Given the description of an element on the screen output the (x, y) to click on. 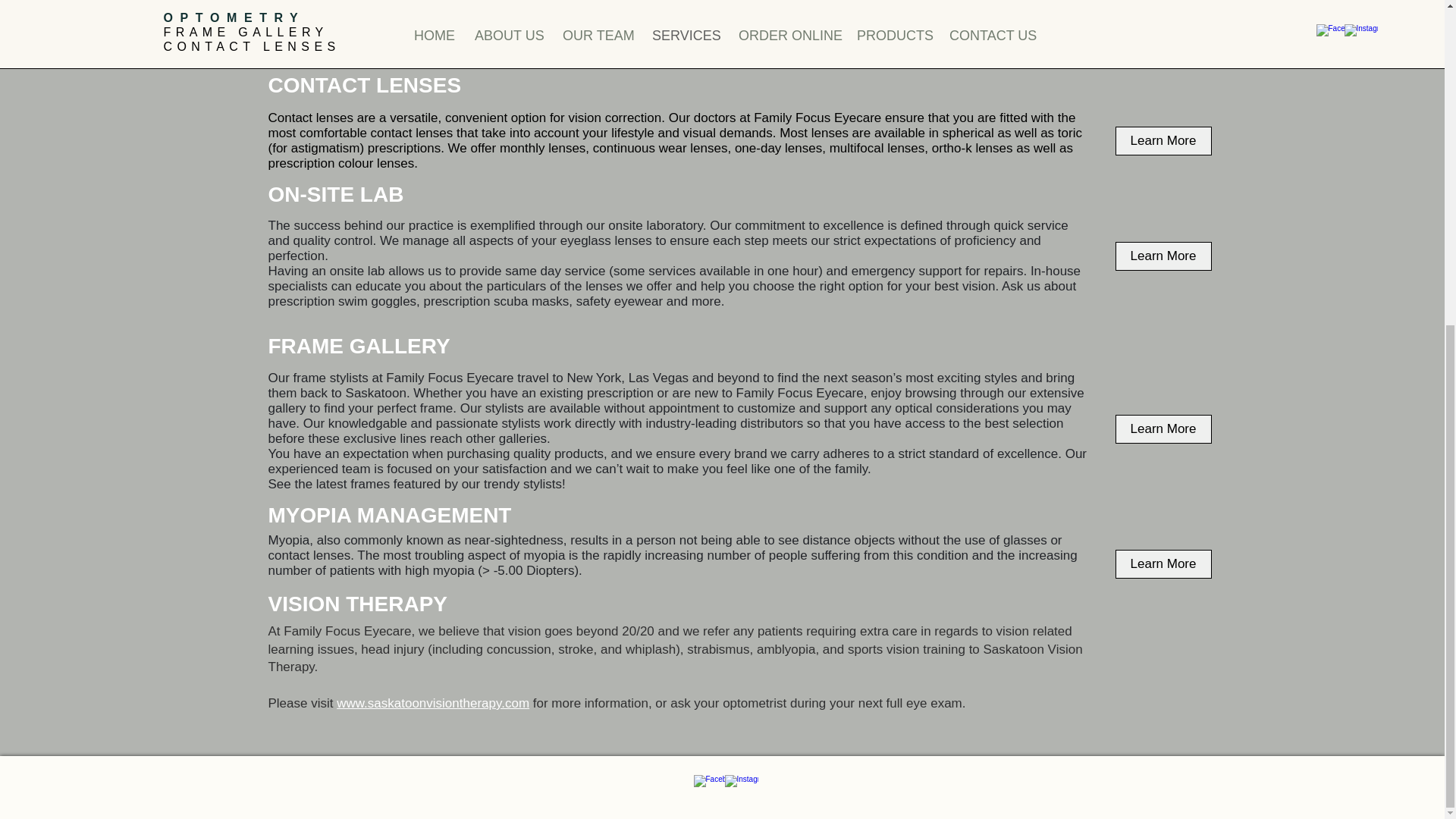
Learn More (1163, 256)
www.saskatoonvisiontherapy.com (432, 703)
Learn More (1163, 41)
Learn More (1163, 140)
Learn More (1163, 428)
Learn More (1163, 563)
